Given the description of an element on the screen output the (x, y) to click on. 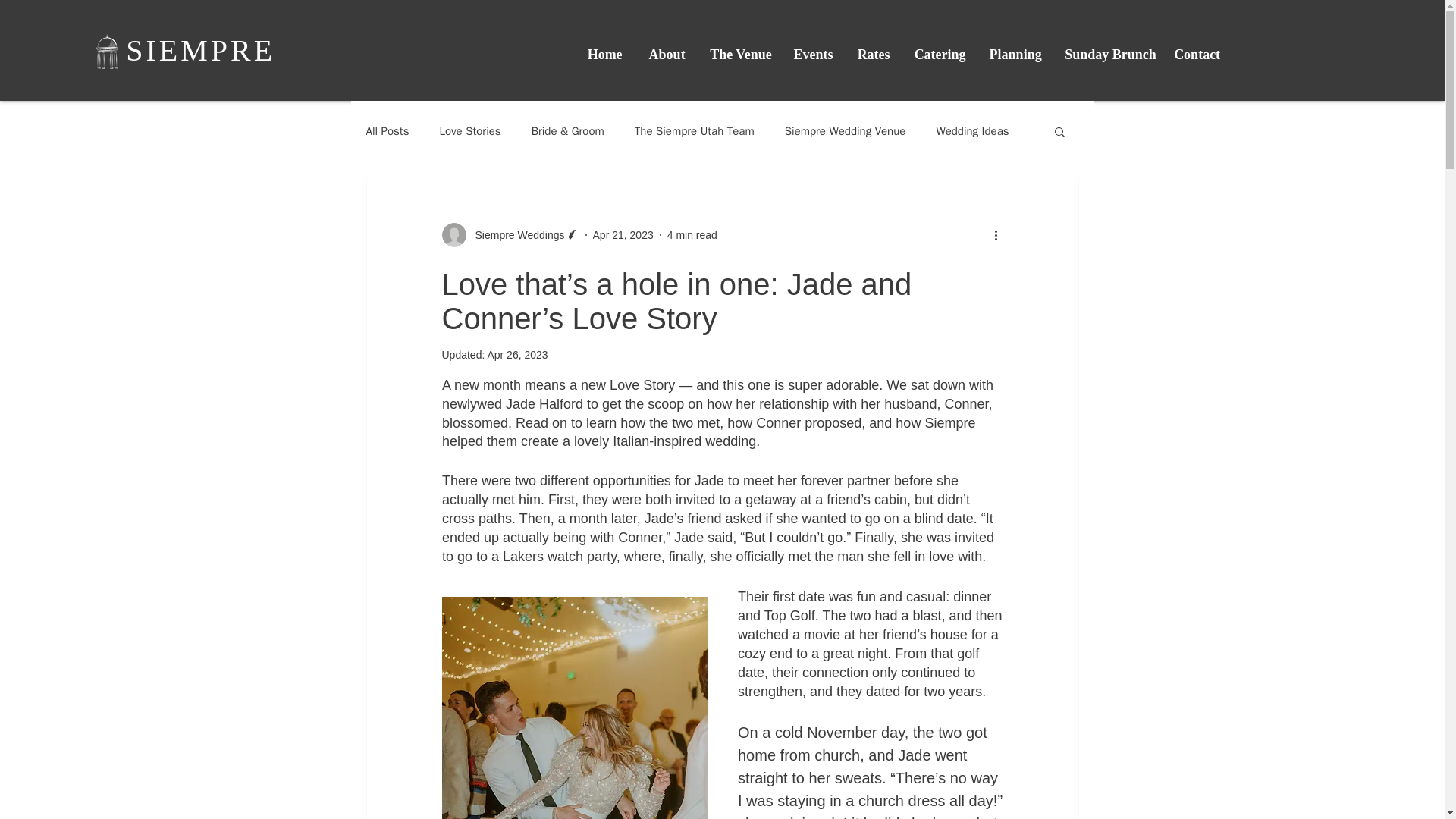
Home (603, 54)
4 min read (691, 234)
Rates (873, 54)
Wedding Ideas (972, 131)
The Siempre Utah Team (694, 131)
Catering (939, 54)
Sunday Brunch (1106, 54)
About (666, 54)
The Venue (739, 54)
Events (812, 54)
Siempre Weddings (509, 234)
Siempre Weddings (514, 235)
Planning (1014, 54)
All Posts (387, 131)
Contact (1196, 54)
